Given the description of an element on the screen output the (x, y) to click on. 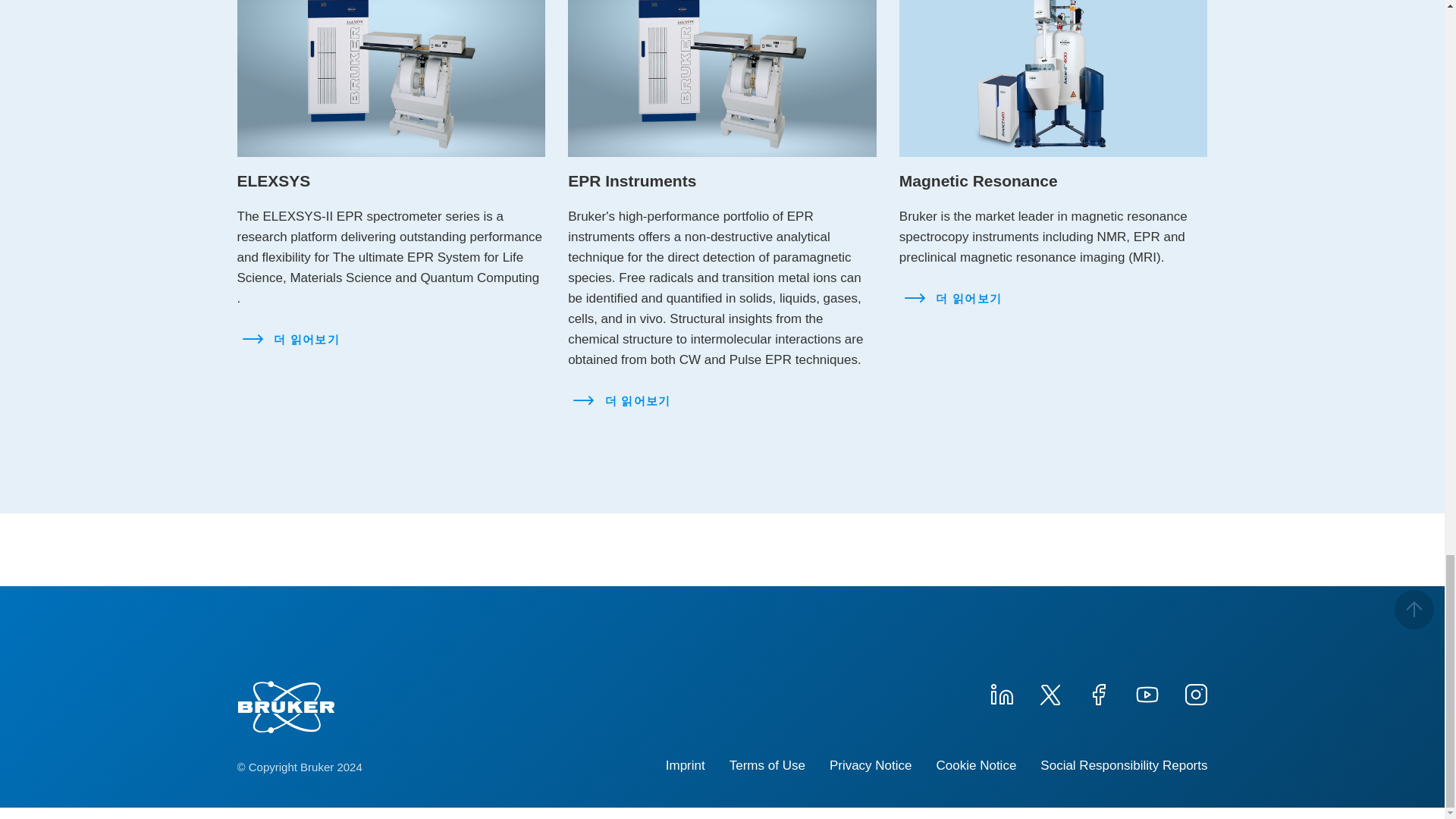
facebook (1097, 692)
linkedin (1000, 692)
Imprint (684, 765)
instagram (1194, 692)
twitter (1048, 692)
youtube (1146, 692)
